Given the description of an element on the screen output the (x, y) to click on. 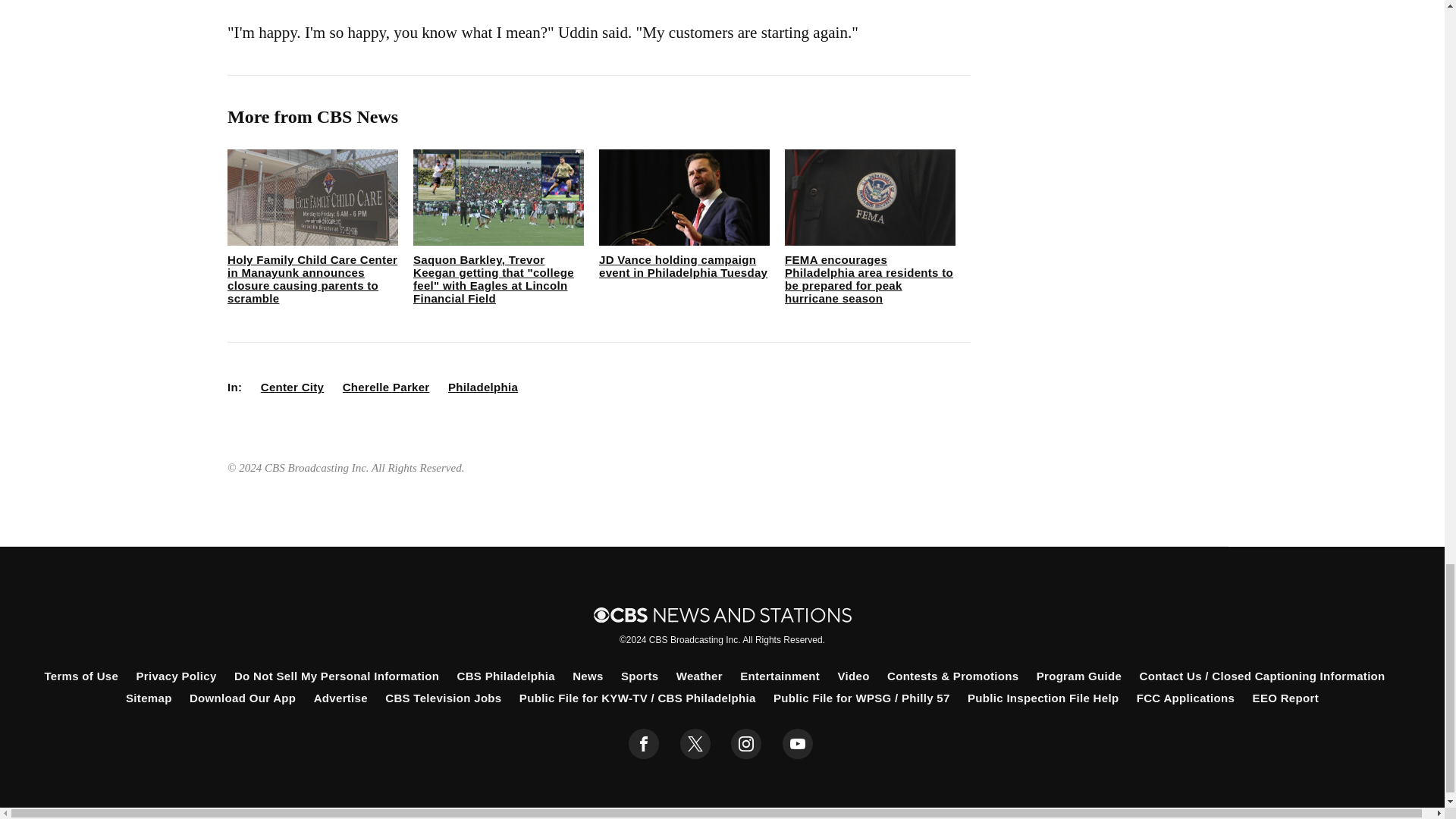
facebook (643, 743)
instagram (745, 743)
twitter (694, 743)
youtube (797, 743)
